Given the description of an element on the screen output the (x, y) to click on. 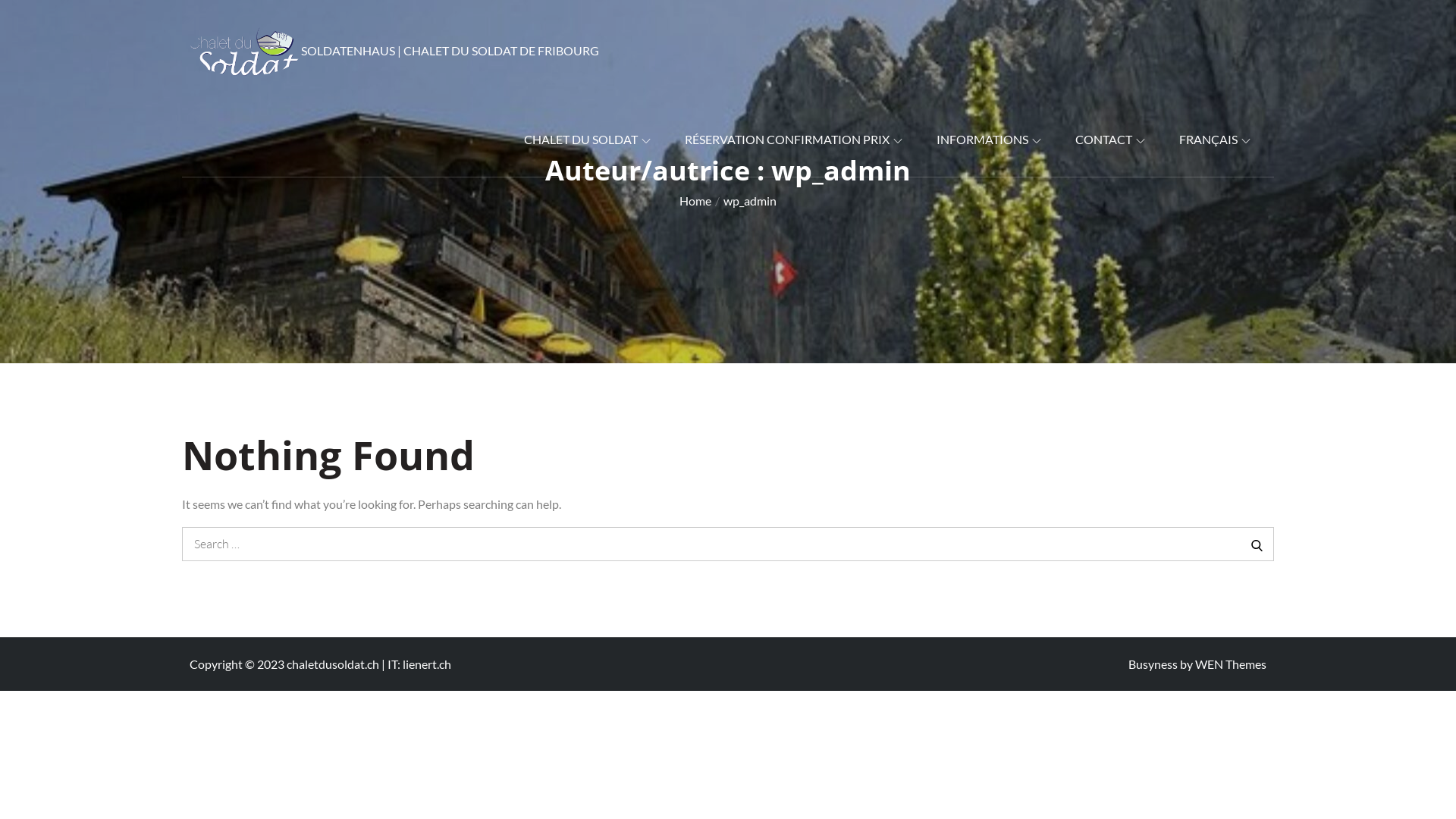
Search Element type: text (1256, 544)
CHALET DU SOLDAT Element type: text (587, 139)
CONTACT Element type: text (1110, 139)
WEN Themes Element type: text (1230, 663)
lienert.ch Element type: text (426, 663)
INFORMATIONS Element type: text (988, 139)
chaletdusoldat.ch Element type: text (332, 663)
Home Element type: text (695, 200)
